Given the description of an element on the screen output the (x, y) to click on. 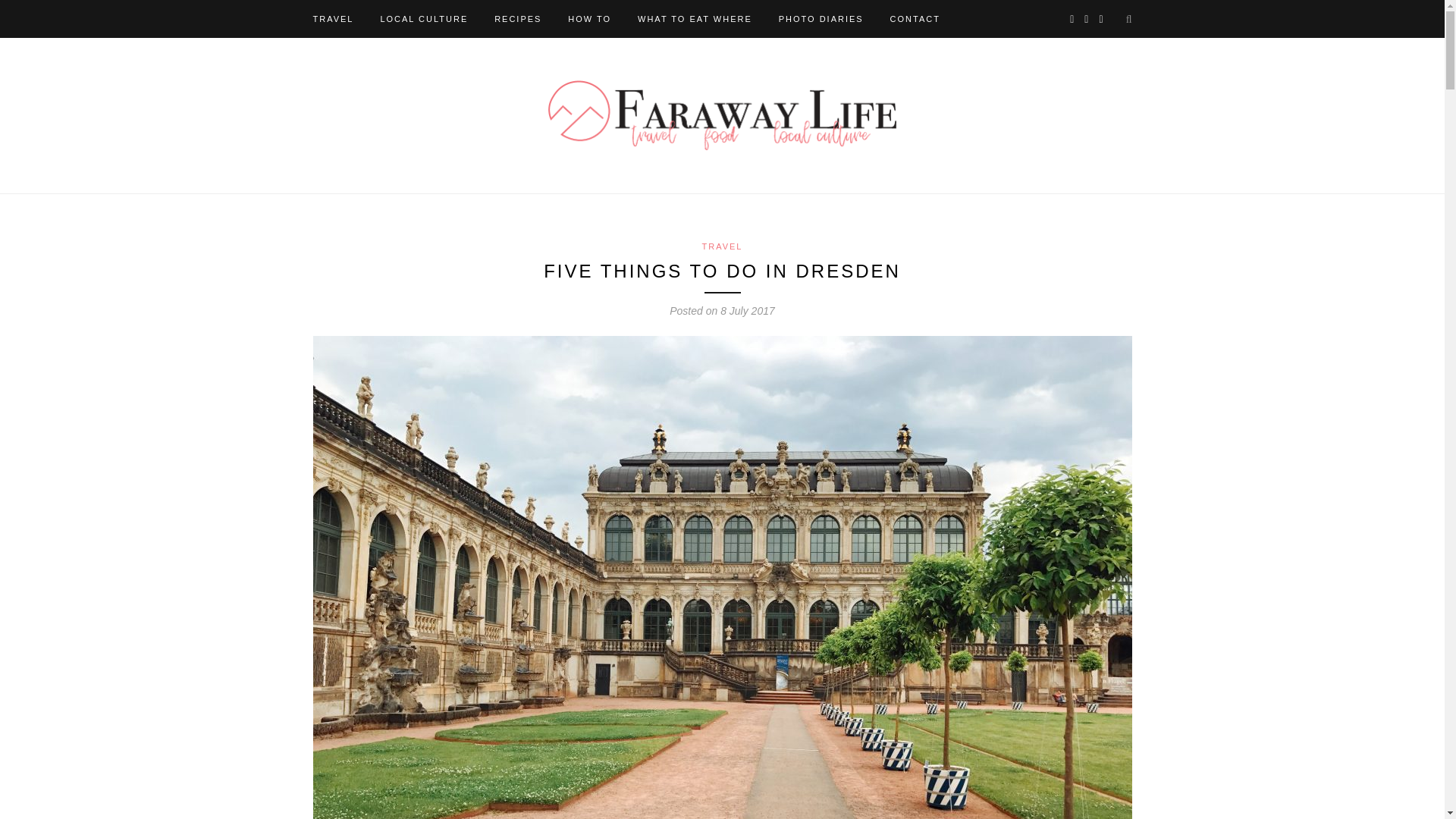
TRAVEL (721, 245)
HOW TO (589, 18)
PHOTO DIARIES (820, 18)
RECIPES (518, 18)
LOCAL CULTURE (423, 18)
TRAVEL (333, 18)
CONTACT (914, 18)
WHAT TO EAT WHERE (694, 18)
